Given the description of an element on the screen output the (x, y) to click on. 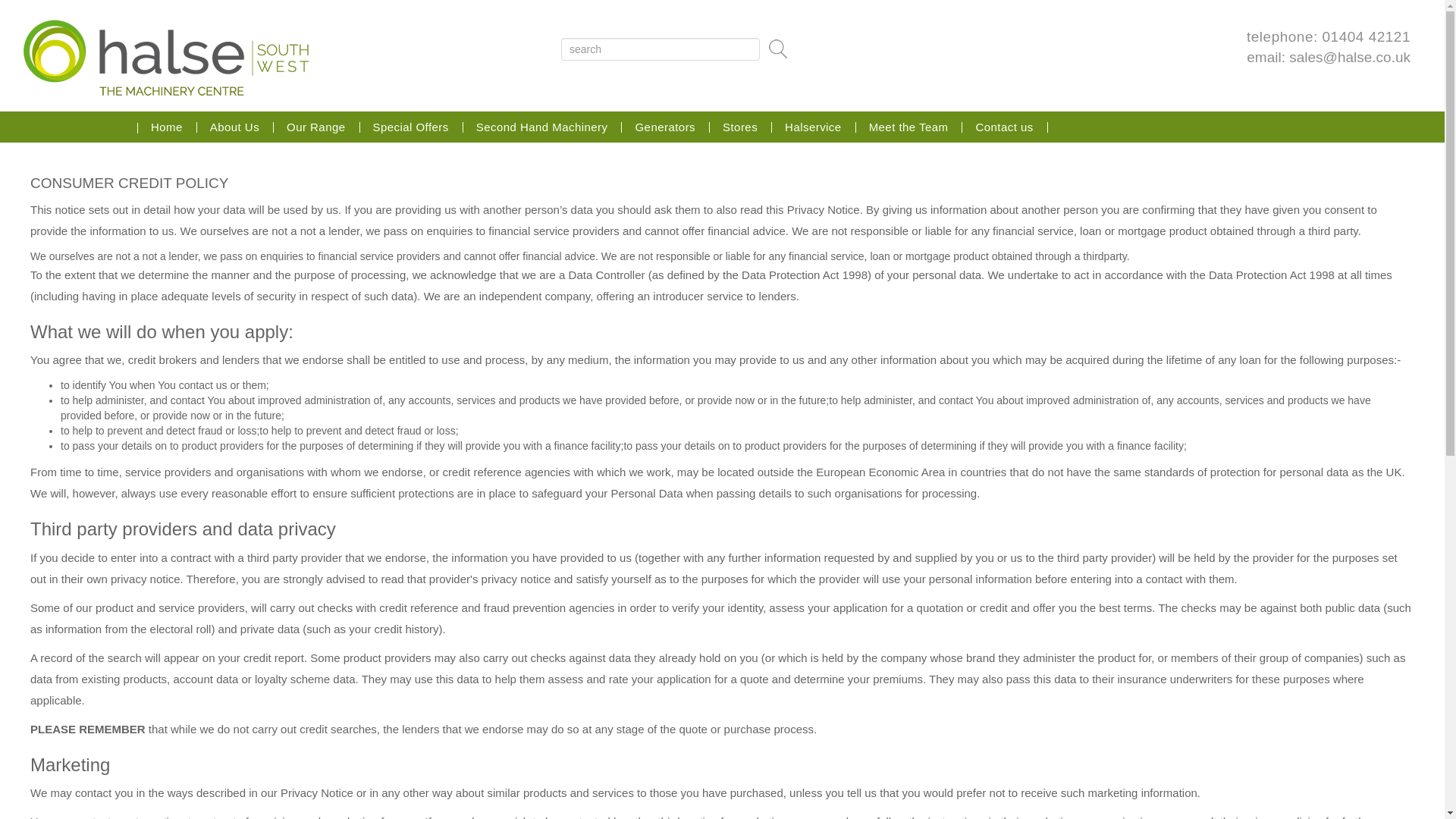
Halservice (813, 126)
Meet the Team (909, 126)
Generators (665, 126)
Contact us (1003, 126)
Logo - Halse (165, 57)
Stores (740, 126)
Home (166, 126)
Second Hand Machinery (542, 126)
Special Offers (411, 126)
About Us (234, 126)
Our Range (315, 126)
